Given the description of an element on the screen output the (x, y) to click on. 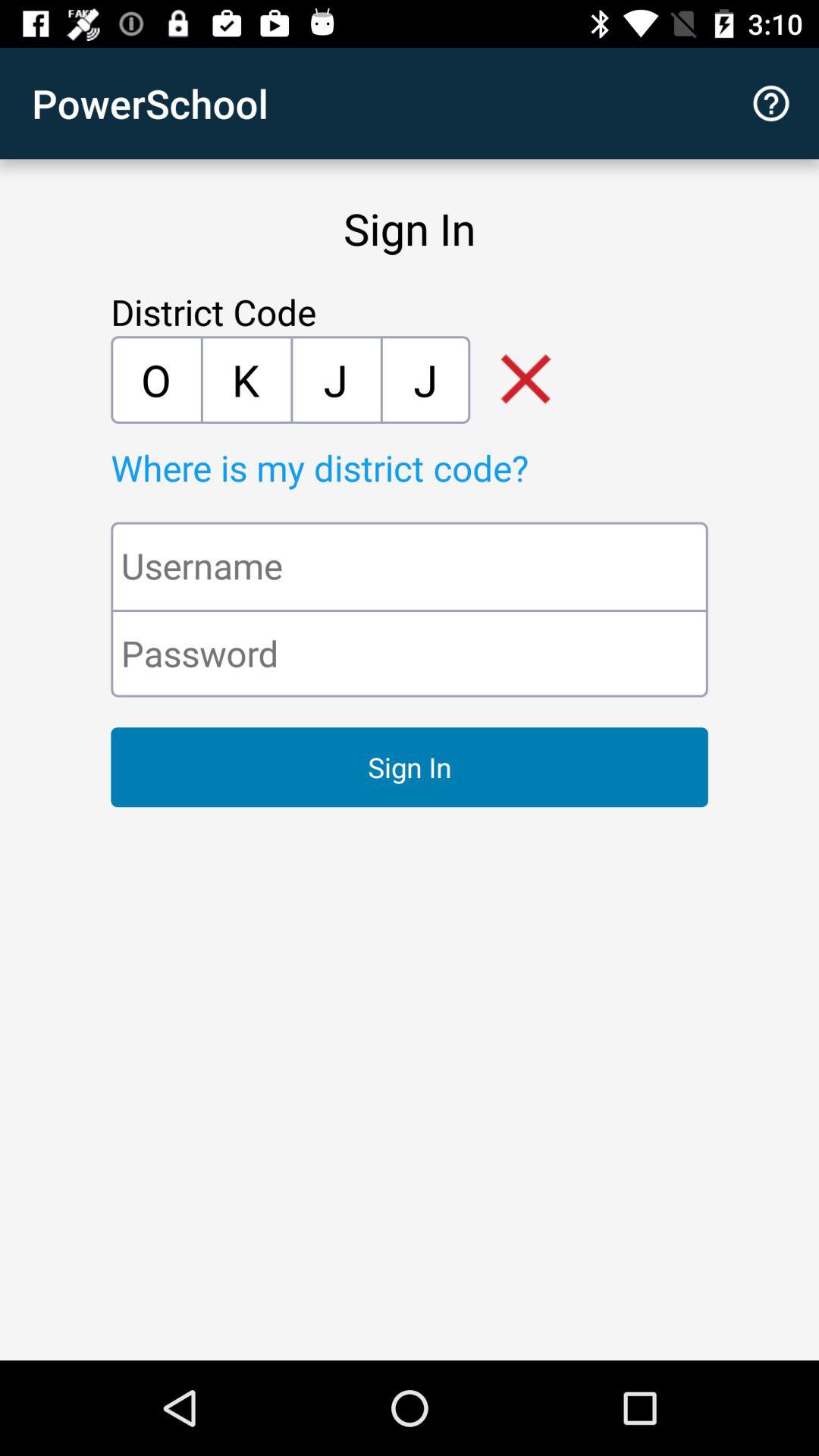
choose icon below the o icon (444, 467)
